Given the description of an element on the screen output the (x, y) to click on. 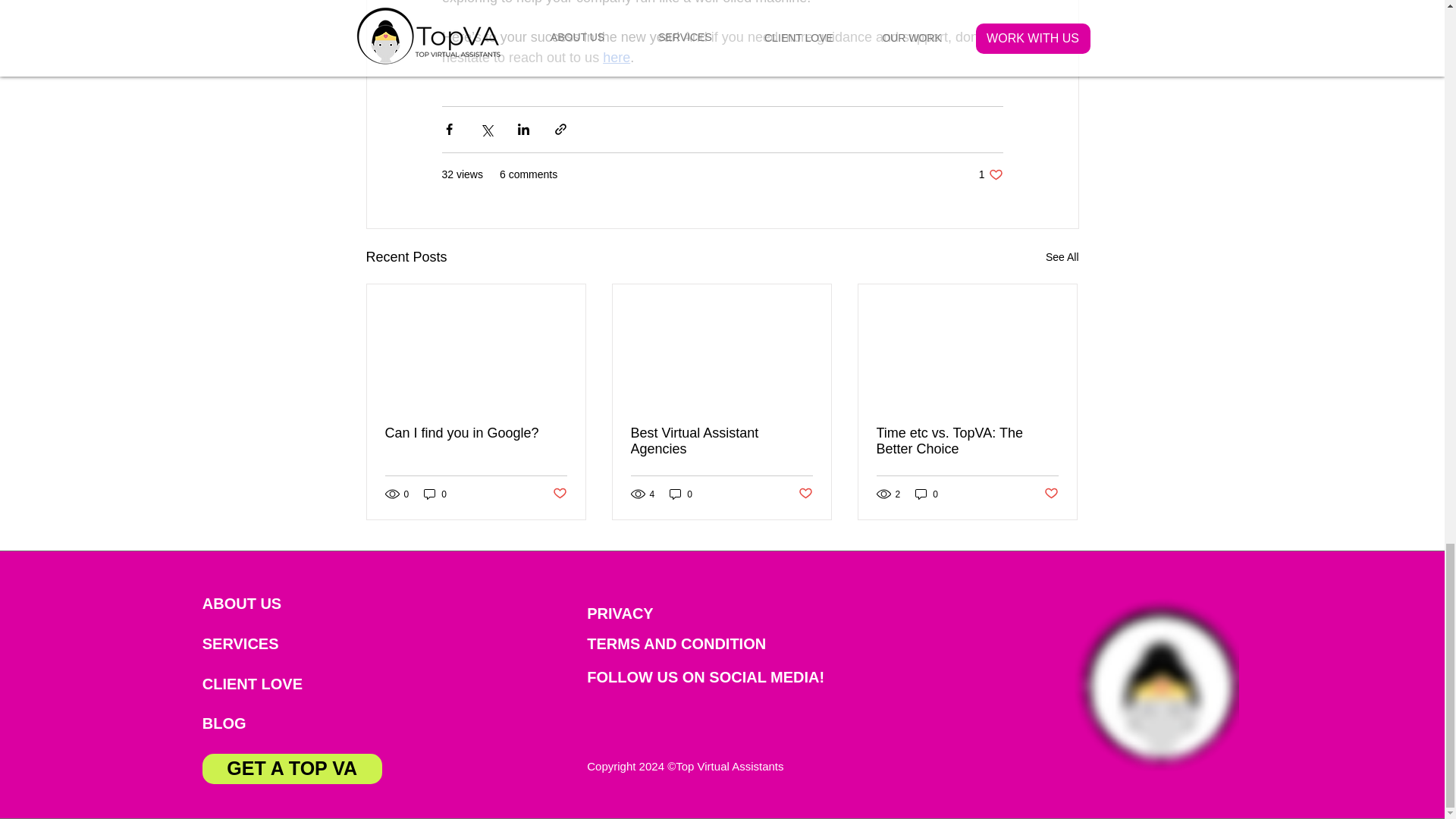
GET A TOP VA (291, 768)
0 (681, 493)
0 (435, 493)
SERVICES (264, 643)
PRIVACY (648, 613)
0 (926, 493)
here (616, 57)
TERMS AND CONDITION (990, 174)
ABOUT US (686, 643)
CLIENT LOVE (264, 603)
Can I find you in Google? (263, 684)
Post not marked as liked (476, 433)
See All (558, 494)
Post not marked as liked (1061, 257)
